Given the description of an element on the screen output the (x, y) to click on. 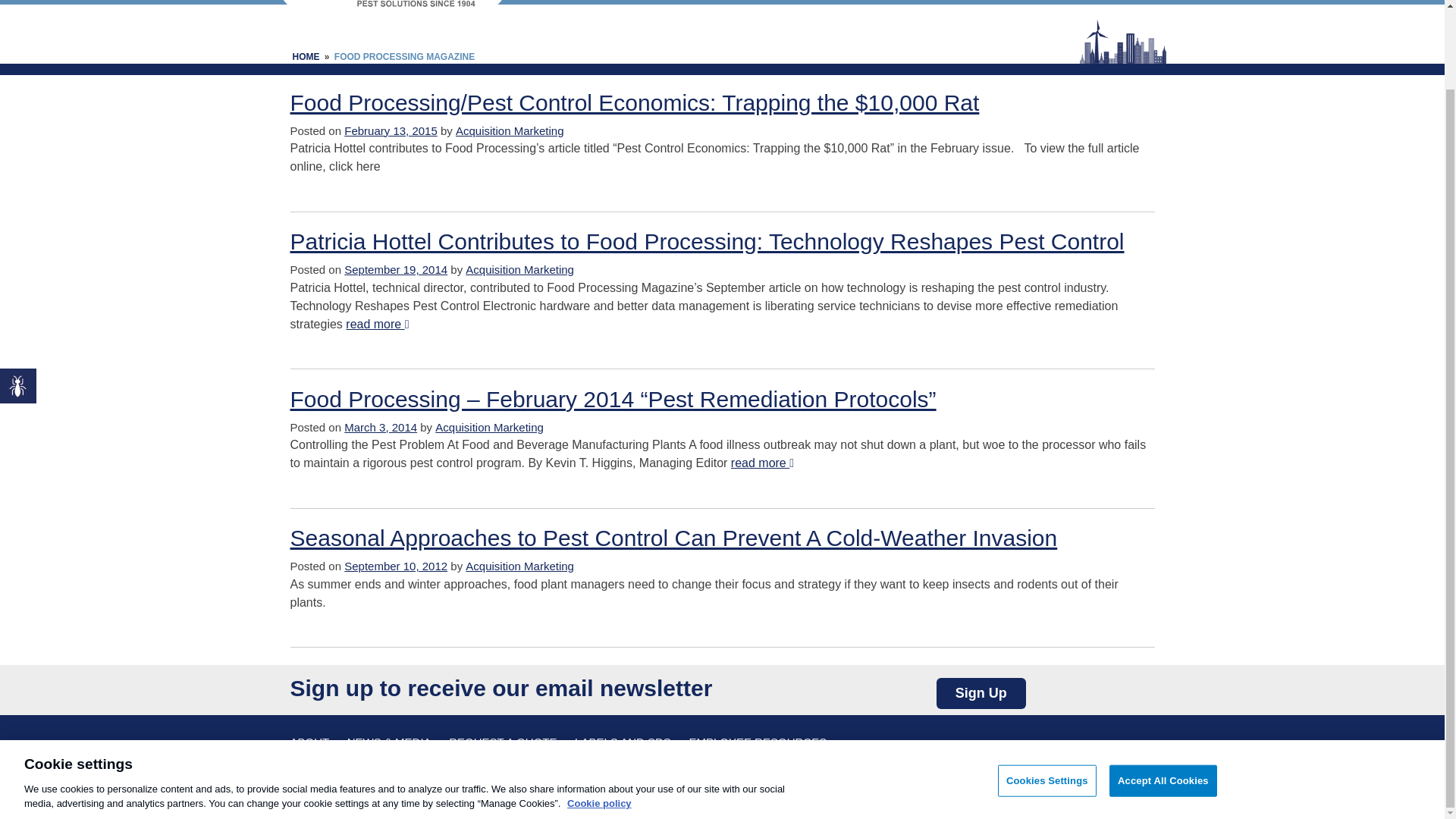
HOW CAN WE HELP (761, 2)
INDUSTRIES WE SERVE (907, 2)
